Given the description of an element on the screen output the (x, y) to click on. 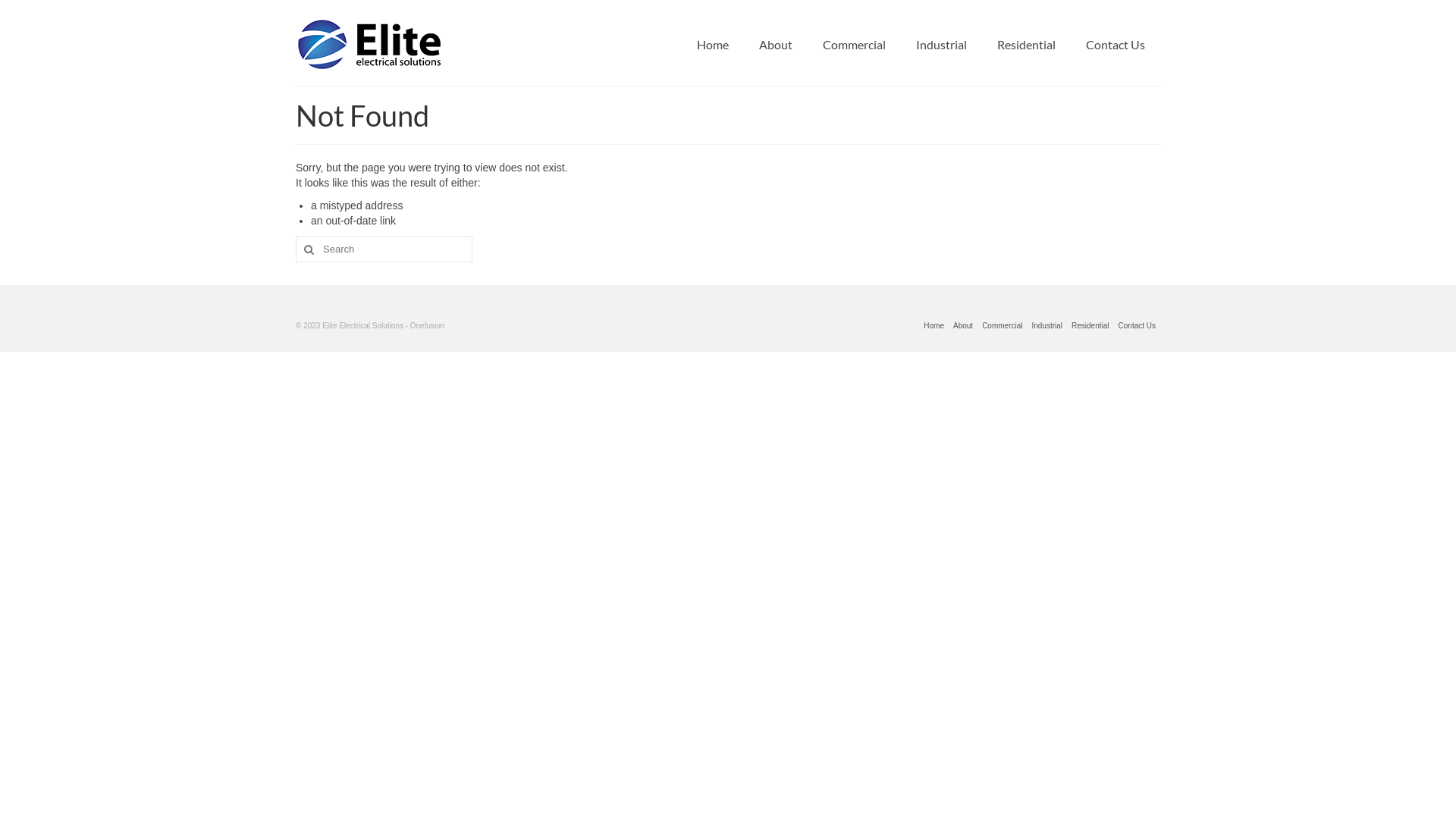
Contact Us Element type: text (1115, 44)
About Element type: text (962, 325)
Contact Us Element type: text (1136, 325)
Industrial Element type: text (941, 44)
Home Element type: text (933, 325)
Residential Element type: text (1026, 44)
Home Element type: text (712, 44)
Commercial Element type: text (853, 44)
Residential Element type: text (1089, 325)
About Element type: text (775, 44)
Commercial Element type: text (1001, 325)
Industrial Element type: text (1046, 325)
